Given the description of an element on the screen output the (x, y) to click on. 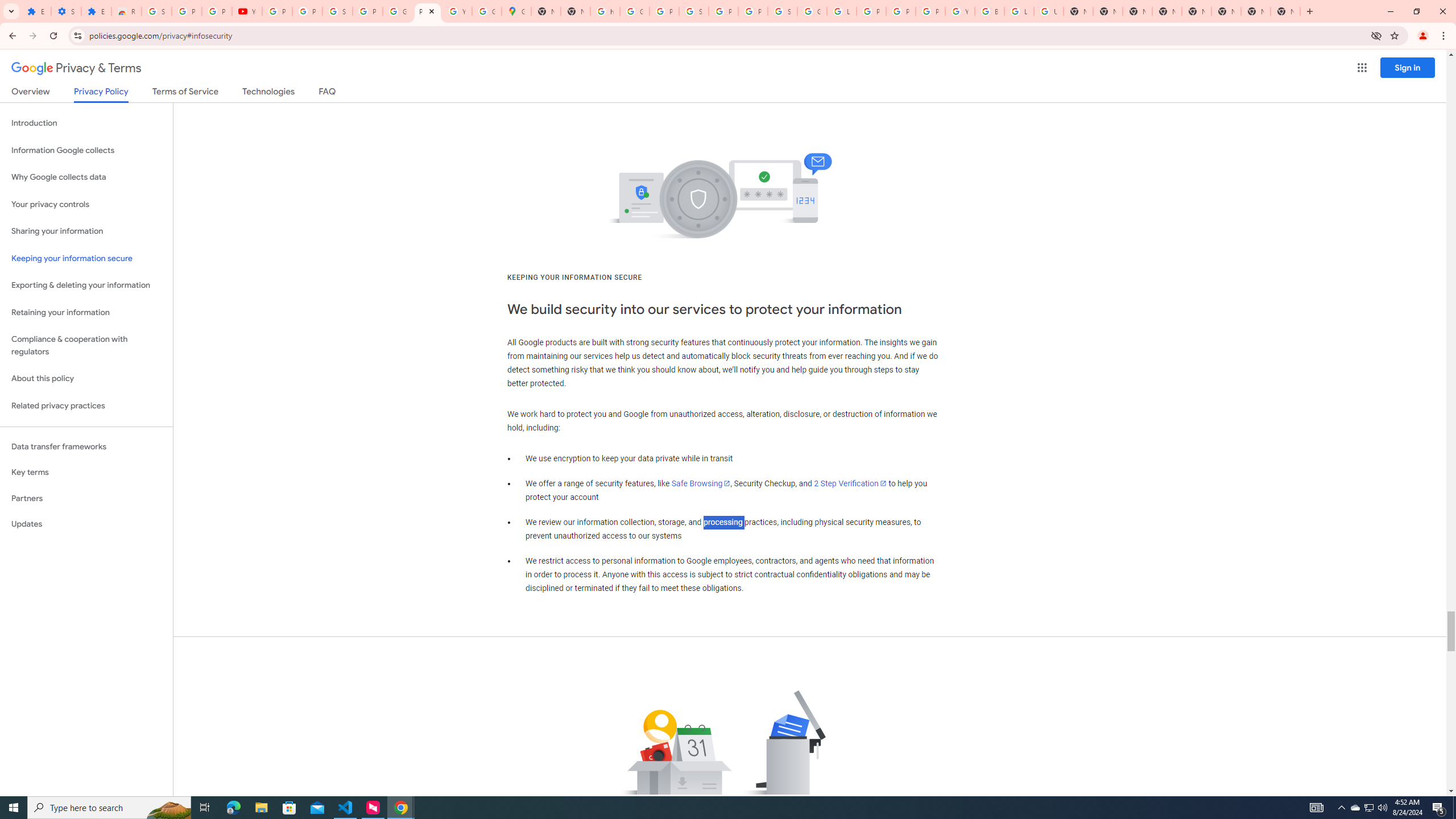
New Tab (1137, 11)
Sign in - Google Accounts (782, 11)
